Given the description of an element on the screen output the (x, y) to click on. 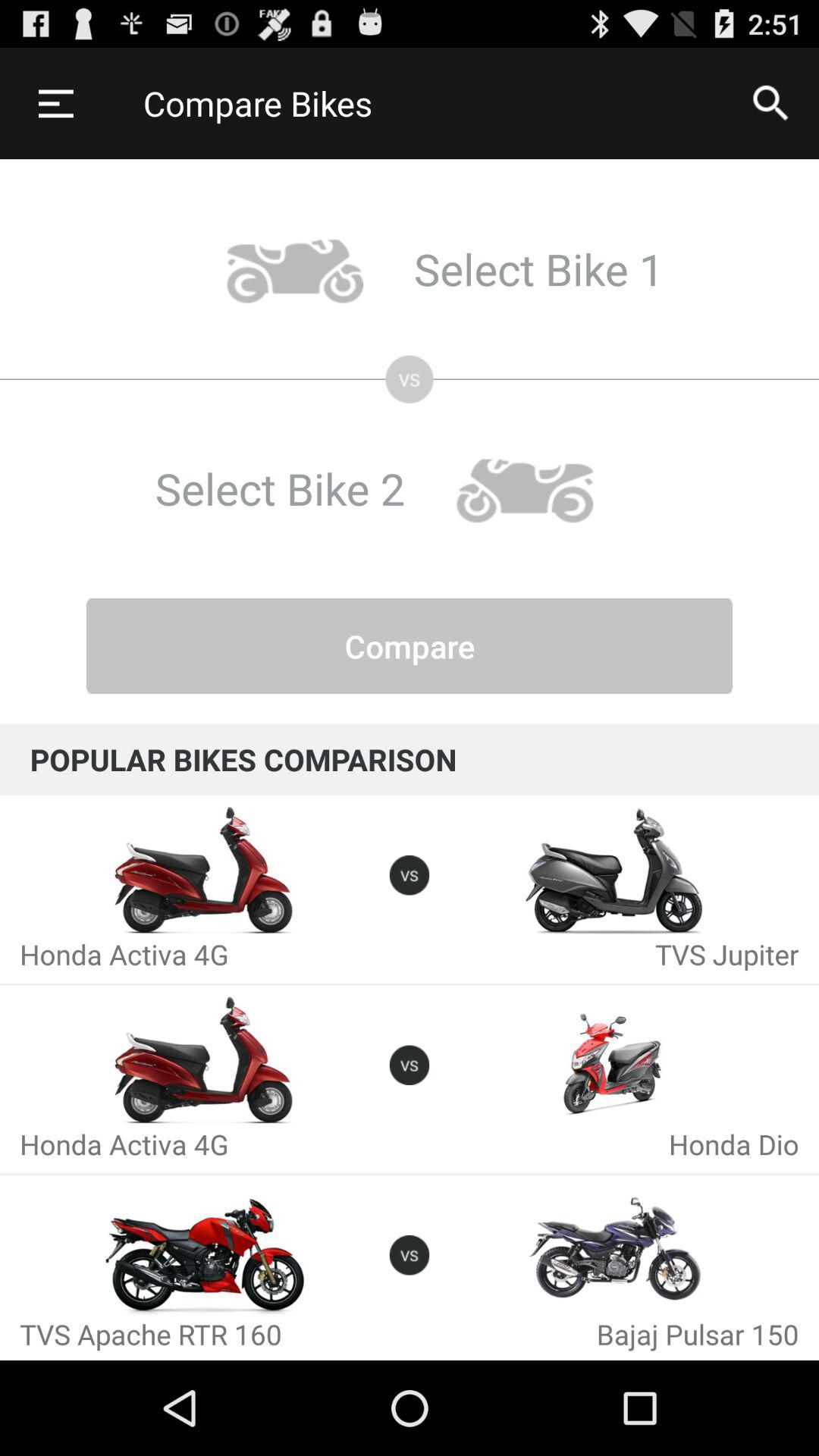
select the second red color bike under popular bikes comparision (204, 1060)
select the icon which is in between tvs apache trt 160 and bajaj pulsar 150 (409, 1254)
click the compare button on the web page (409, 646)
click on last bike on bottom right (614, 1251)
